Given the description of an element on the screen output the (x, y) to click on. 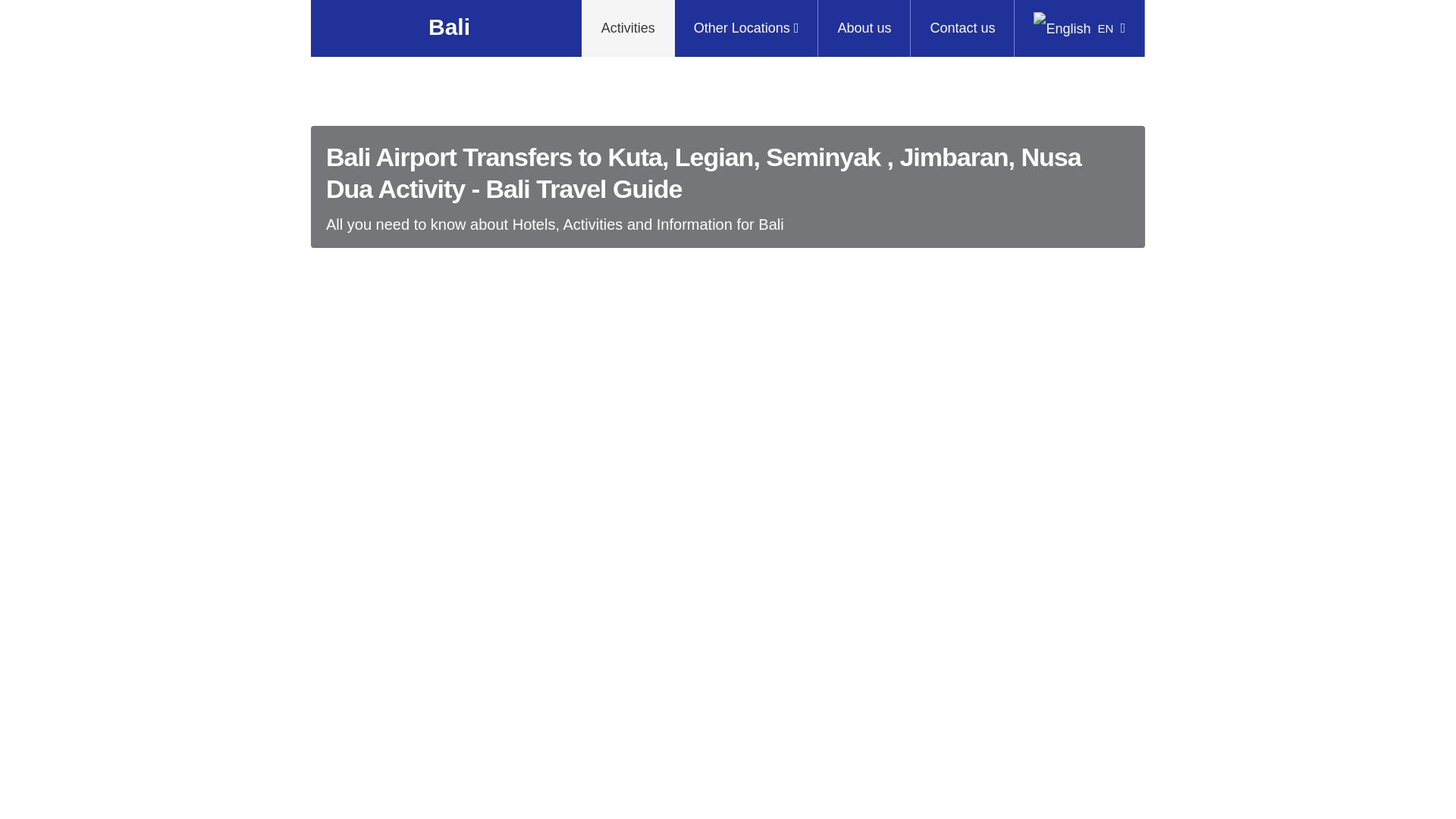
Bali Activities (627, 28)
Activities (627, 28)
Other Locations (746, 28)
Bali Other Locations (746, 28)
